Given the description of an element on the screen output the (x, y) to click on. 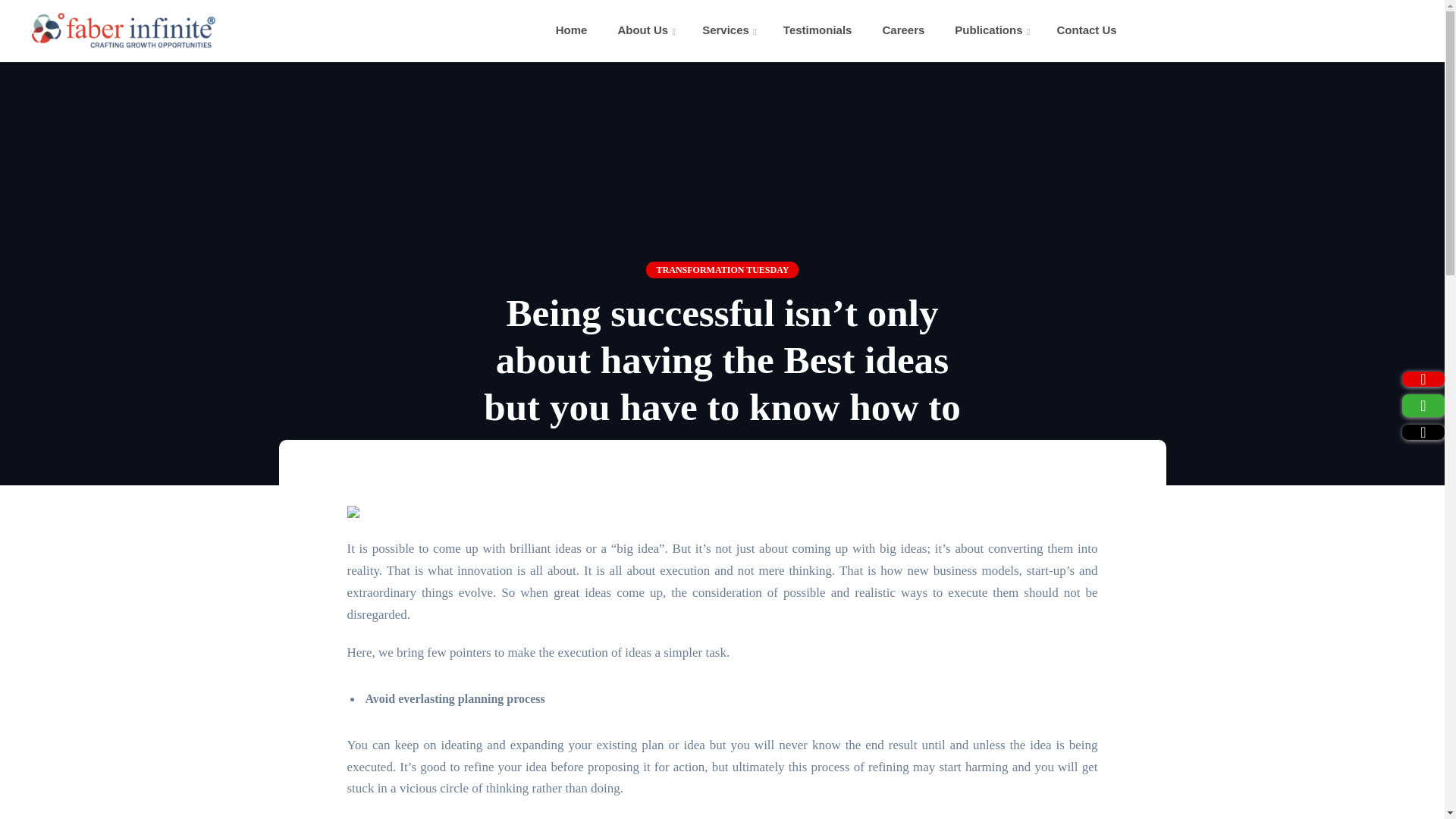
Services (725, 30)
TRANSFORMATION TUESDAY (722, 269)
Search (22, 18)
Home (572, 30)
Testimonials (817, 30)
Careers (903, 30)
Publications (988, 30)
About Us (642, 30)
Contact Us (1086, 30)
